Given the description of an element on the screen output the (x, y) to click on. 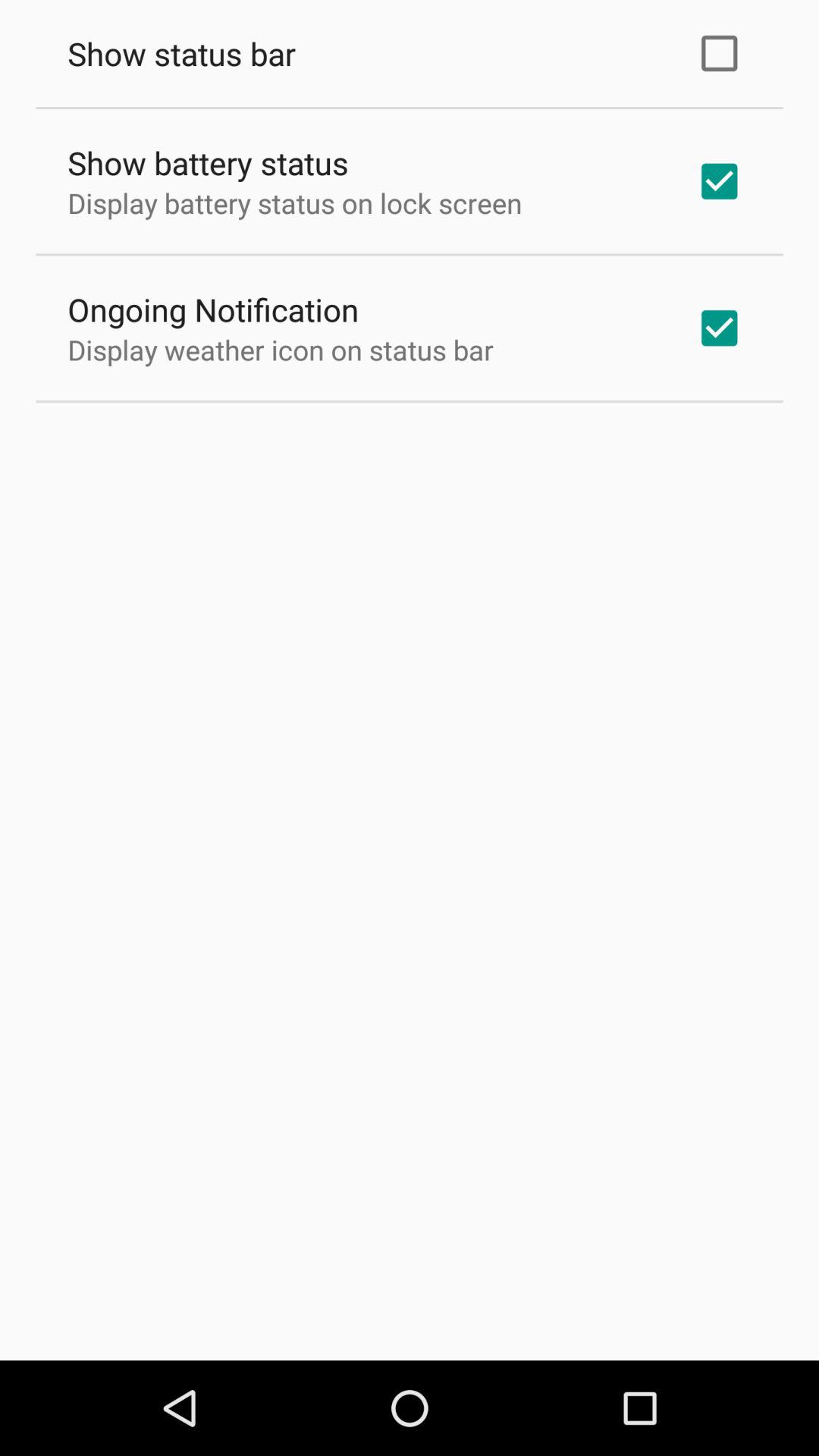
launch the app below display battery status app (212, 309)
